Given the description of an element on the screen output the (x, y) to click on. 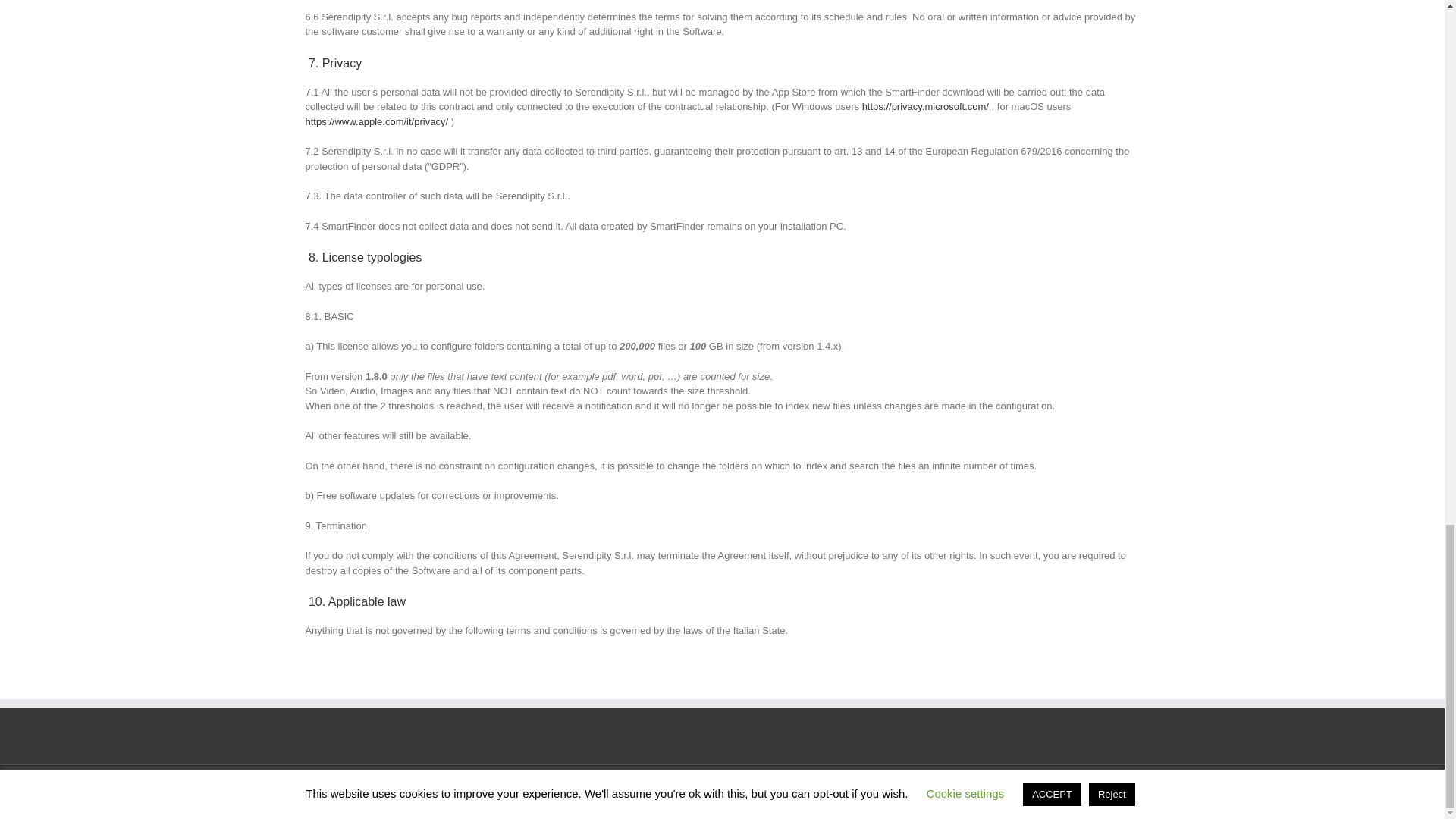
Trattamento dei dati (691, 792)
Cookie Policy (617, 792)
